Given the description of an element on the screen output the (x, y) to click on. 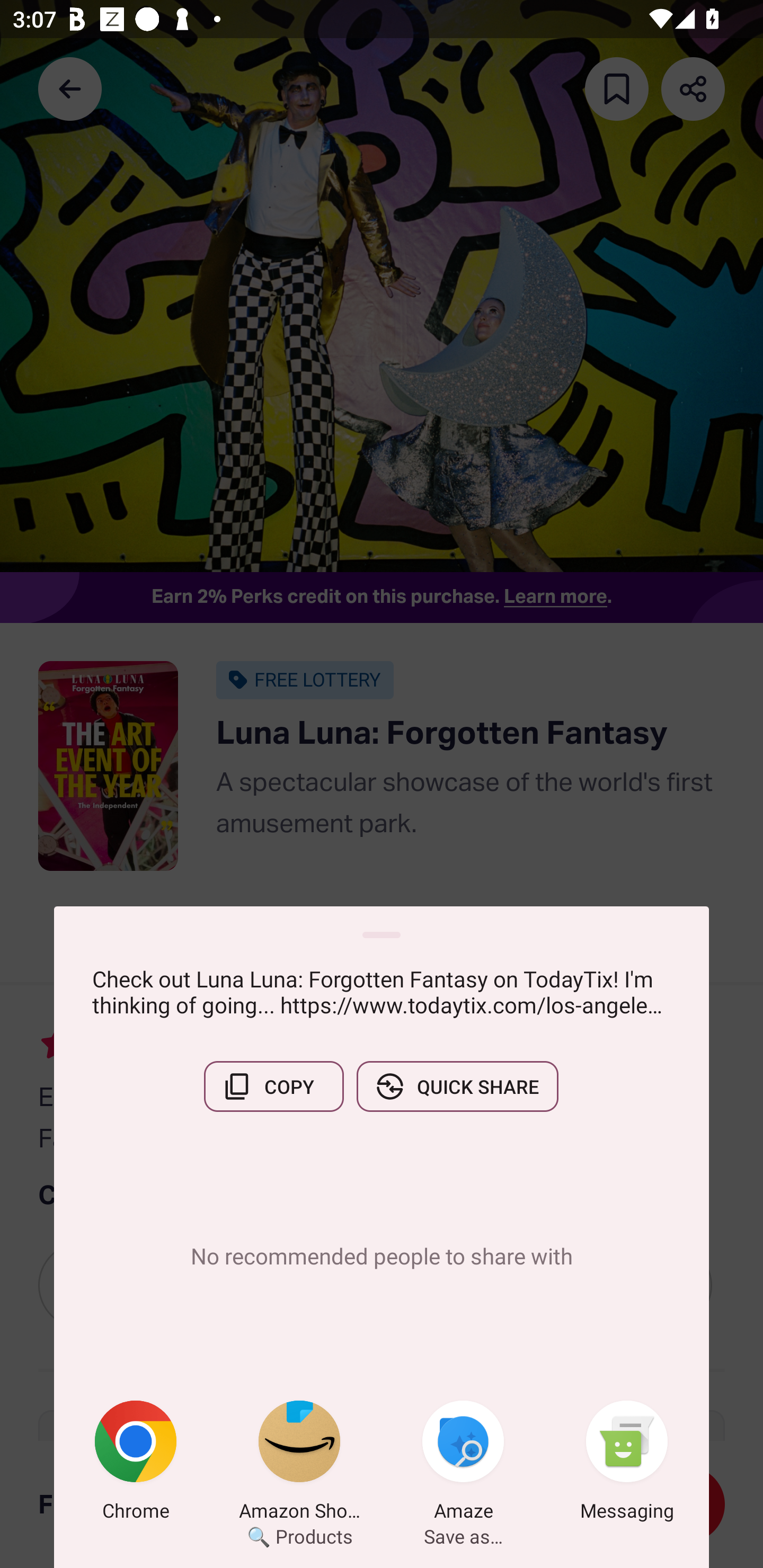
COPY (273, 1086)
QUICK SHARE (457, 1086)
Chrome (135, 1463)
Amazon Shopping 🔍 Products (299, 1463)
Amaze Save as… (463, 1463)
Messaging (626, 1463)
